Given the description of an element on the screen output the (x, y) to click on. 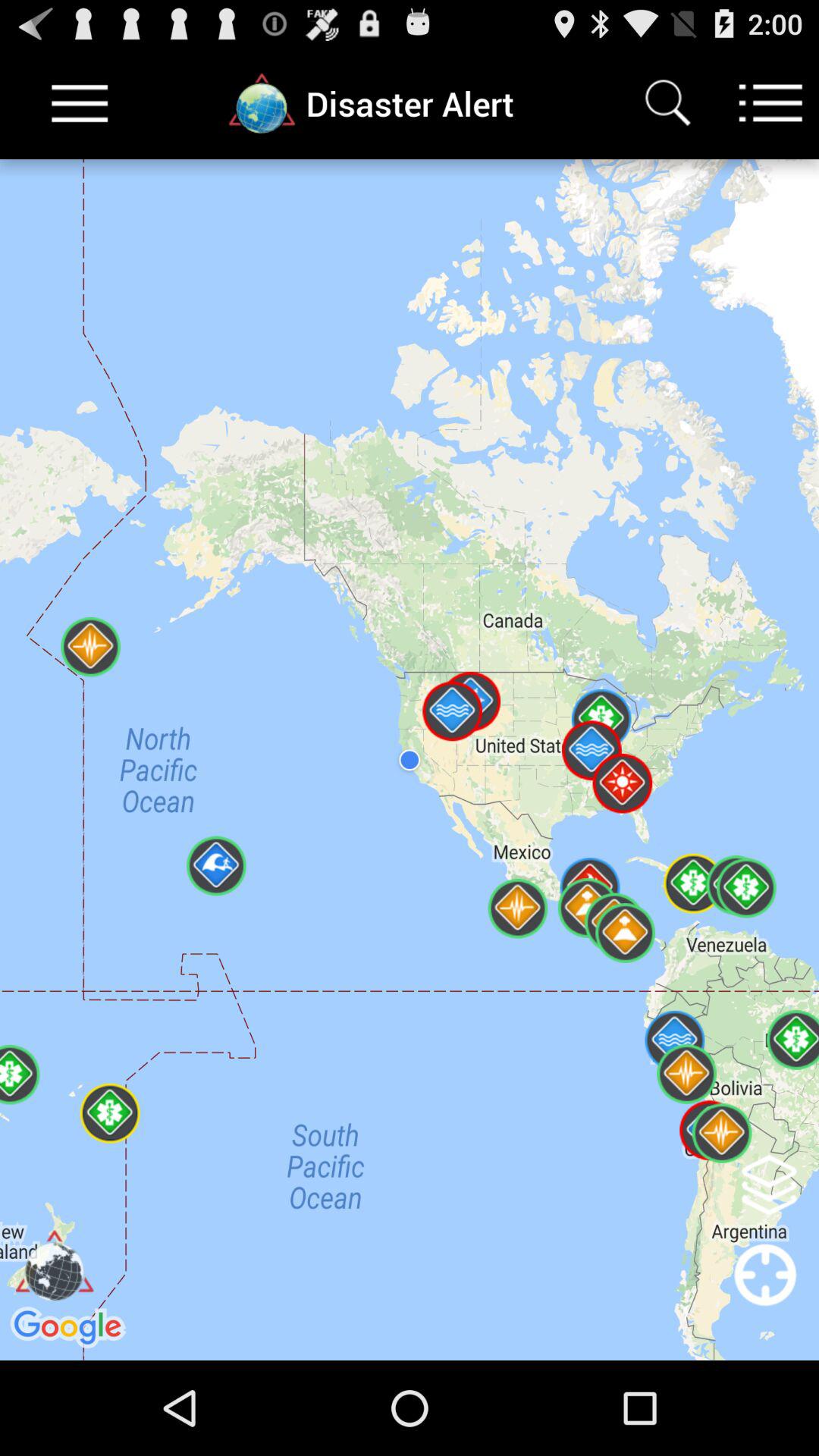
center location (765, 1294)
